Given the description of an element on the screen output the (x, y) to click on. 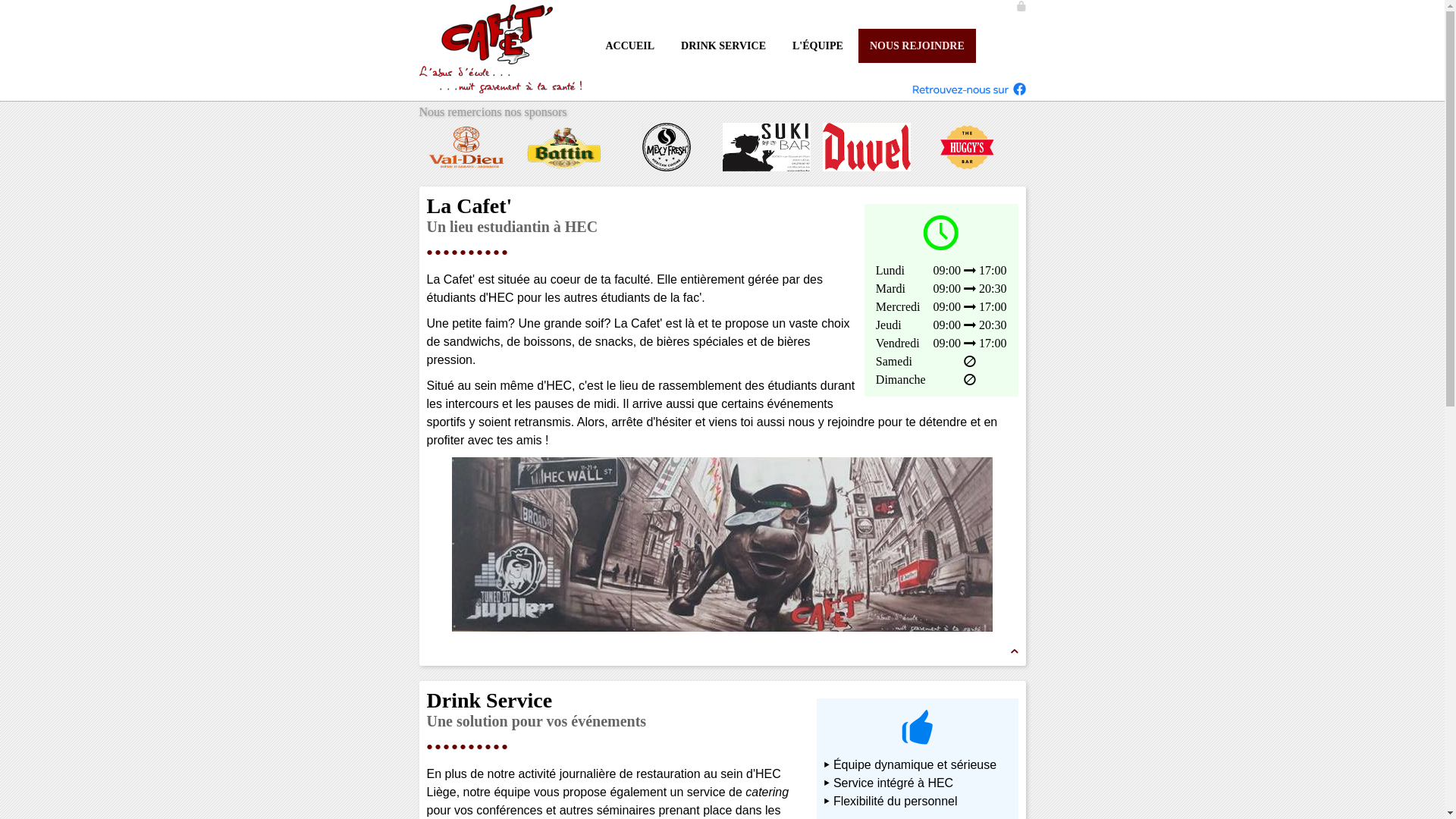
Brasserie de l'Abbaye du Val-Dieu Element type: hover (471, 146)
NOUS REJOINDRE Element type: text (916, 45)
Brasserie C Element type: hover (371, 146)
Battin Element type: hover (571, 146)
Duvel Element type: hover (872, 146)
Huggy's Dog Element type: hover (972, 146)
DRINK SERVICE Element type: text (723, 45)
Mex-Y-Fresh Element type: hover (671, 146)
ACCUEIL Element type: text (629, 45)
SUKI Bar Element type: hover (771, 146)
